Given the description of an element on the screen output the (x, y) to click on. 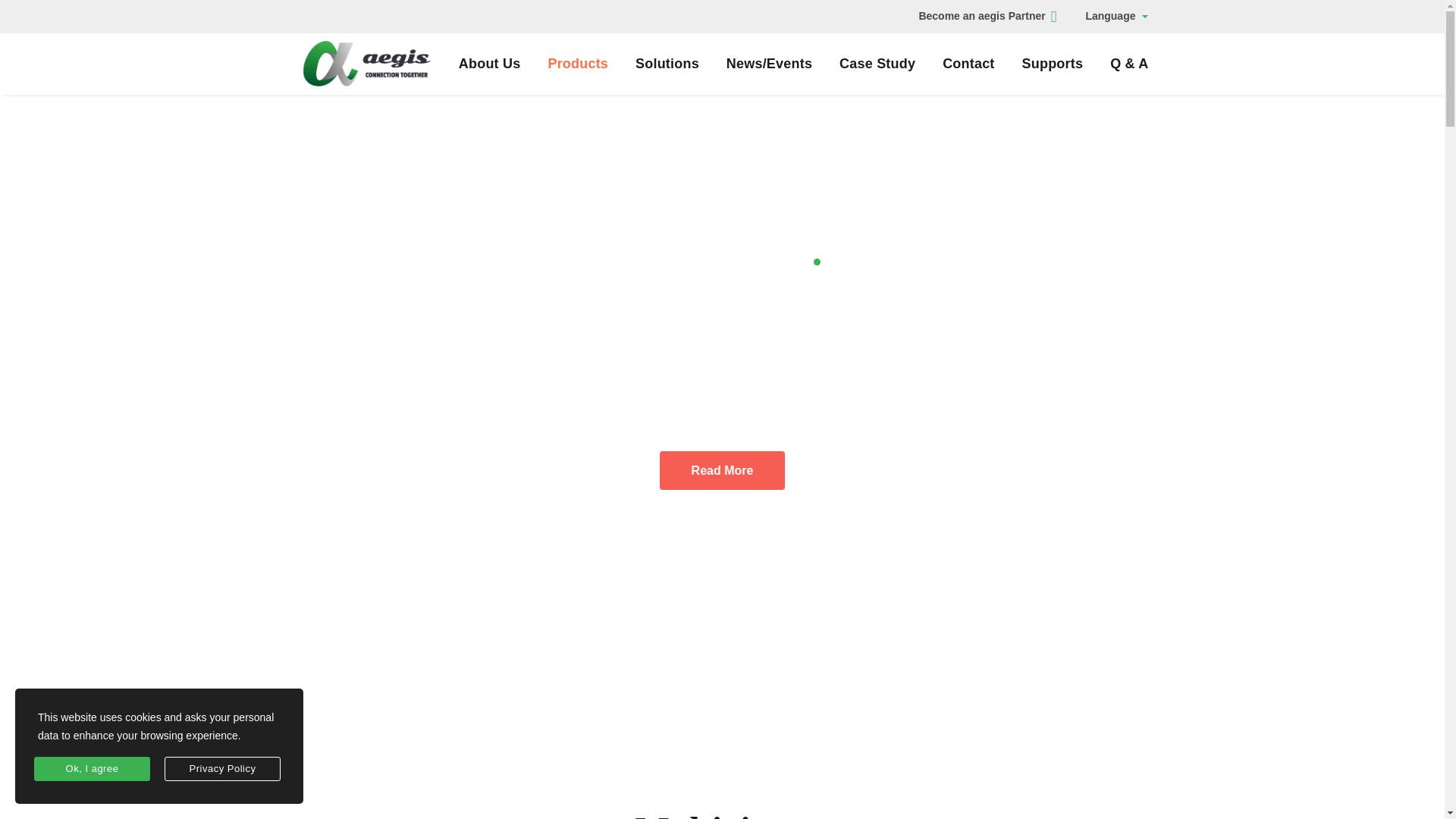
Become an aegis Partner (987, 16)
4KPROIP (722, 470)
Language (1115, 16)
Products (577, 64)
About Us (489, 64)
